Given the description of an element on the screen output the (x, y) to click on. 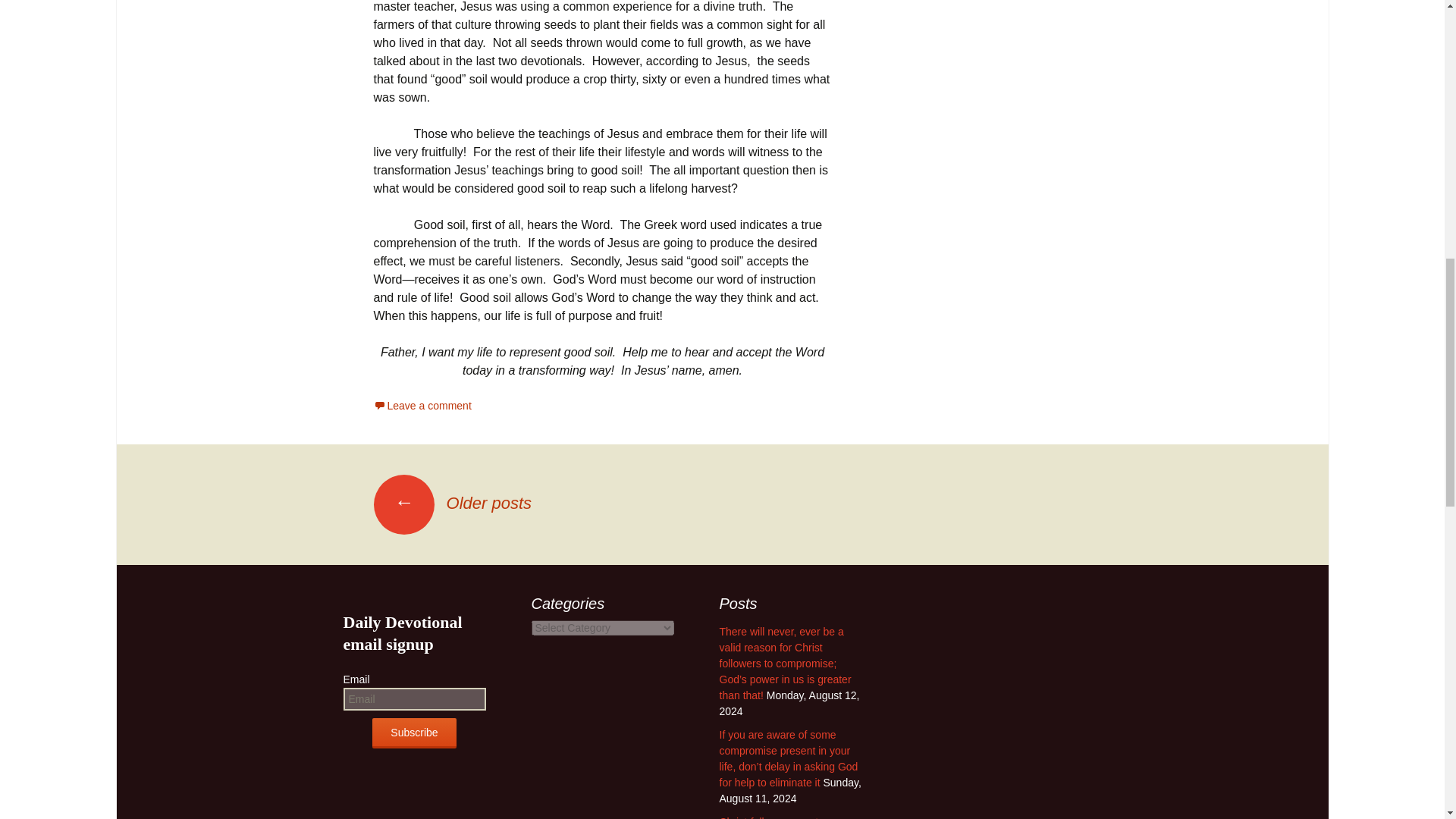
Subscribe (413, 733)
Leave a comment (421, 405)
